Given the description of an element on the screen output the (x, y) to click on. 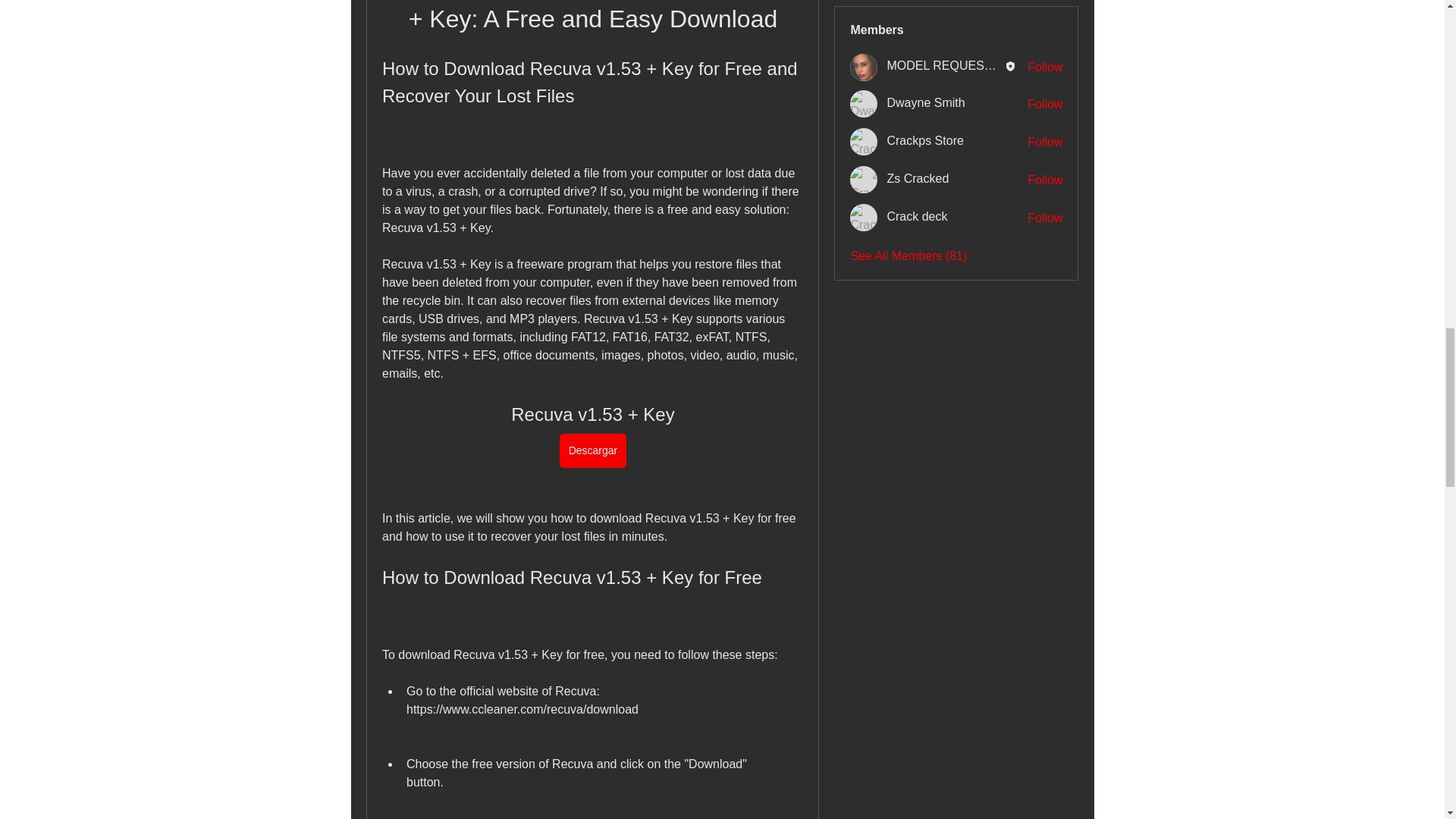
Follow (1044, 180)
MODEL REQUEST TO EVENT PRODUCER (944, 65)
Zs Cracked (863, 179)
Crackps Store (863, 141)
Descargar (592, 450)
MODEL REQUEST TO EVENT PRODUCER (863, 67)
Dwayne Smith (863, 103)
Crackps Store (924, 140)
Crack deck (863, 216)
Dwayne Smith (924, 102)
